Given the description of an element on the screen output the (x, y) to click on. 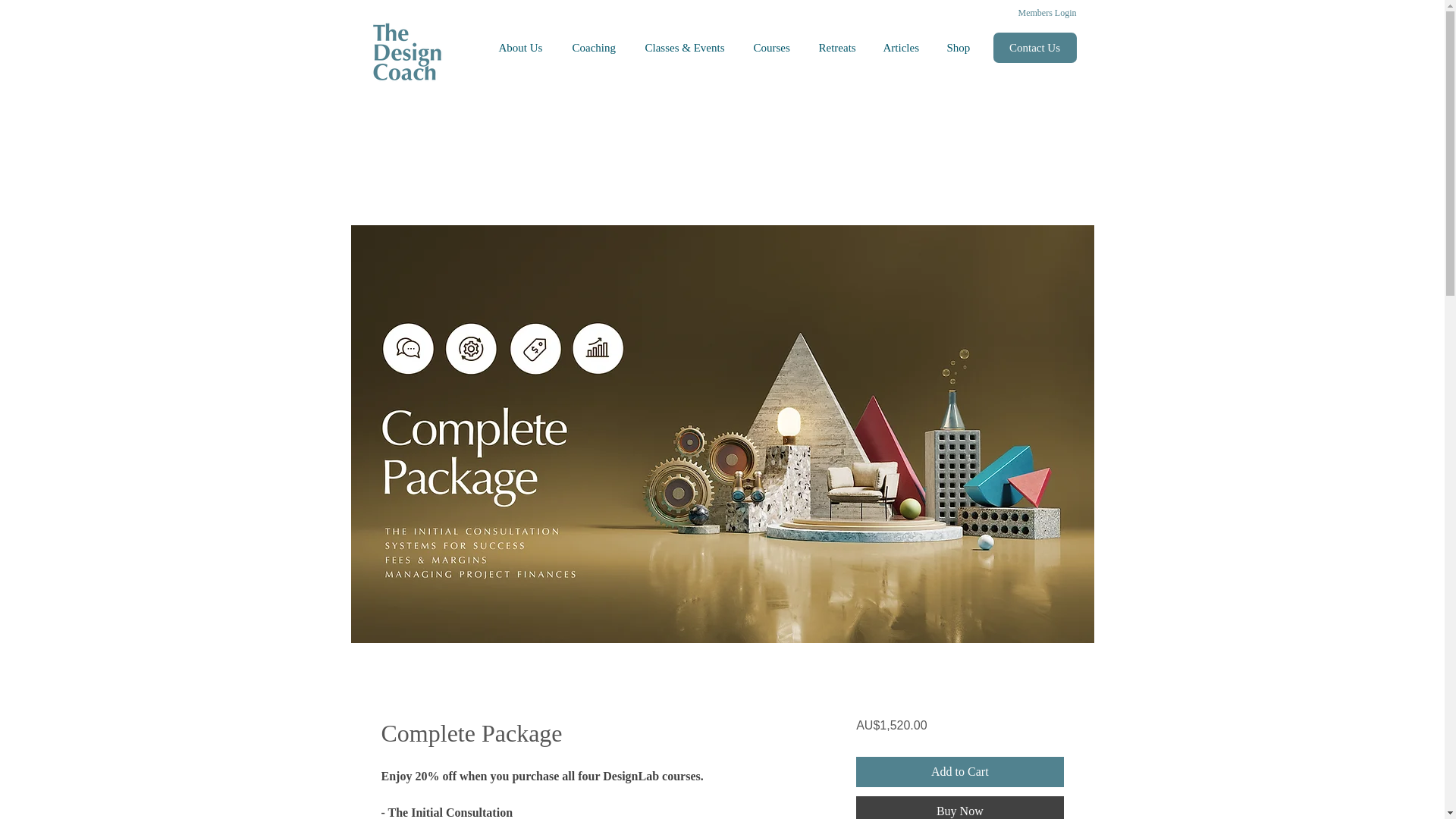
INTERIOR DESIGN ONLINE COURSES (406, 51)
Articles (904, 47)
Members Login (1034, 13)
Shop (961, 47)
Retreats (838, 47)
About Us (523, 47)
